Given the description of an element on the screen output the (x, y) to click on. 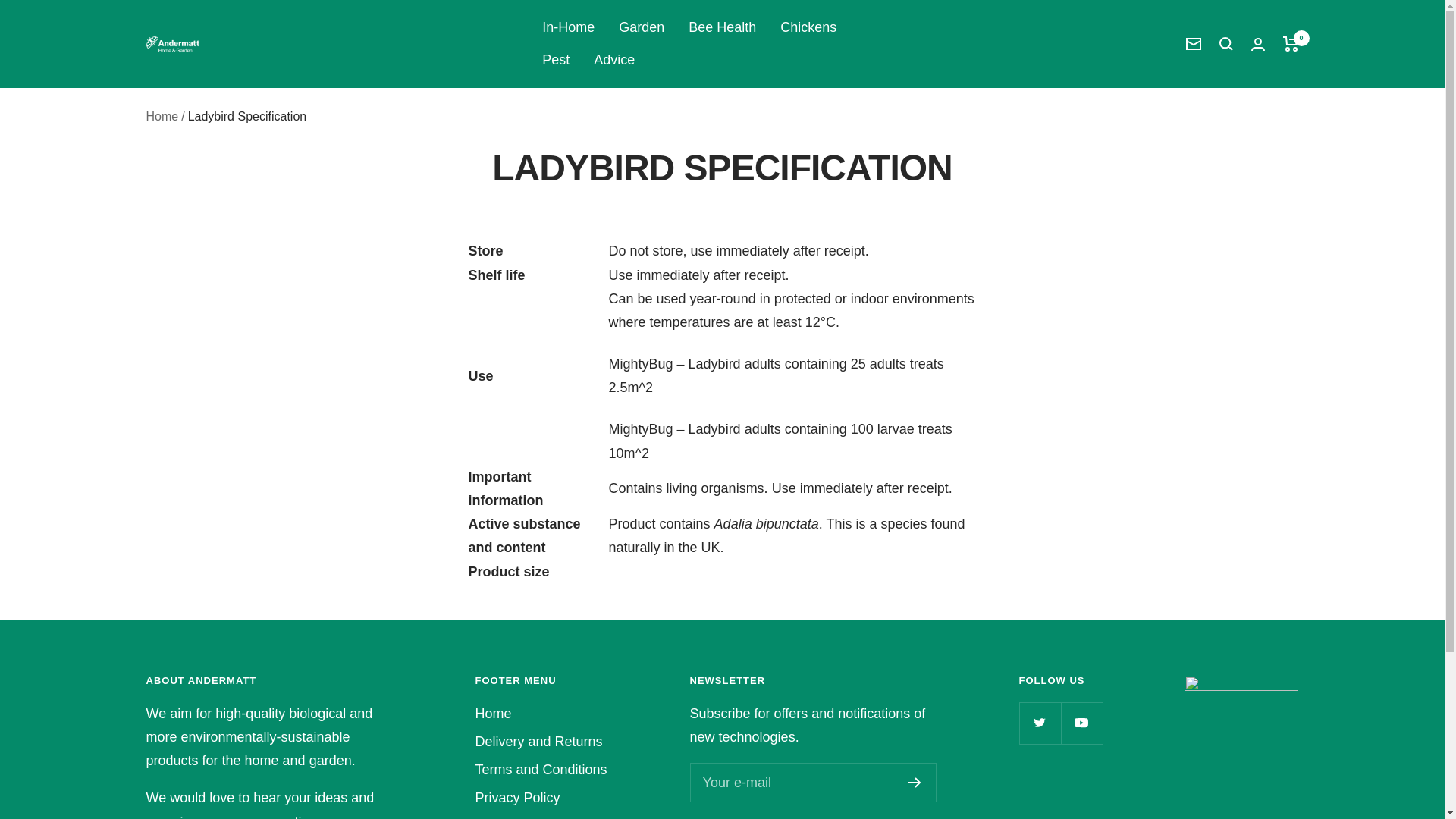
About Us (502, 816)
Advice (614, 60)
Home (161, 115)
Delivery and Returns (538, 741)
Pest (555, 60)
Bee Health (721, 27)
0 (1290, 43)
Register (914, 782)
Privacy Policy (516, 797)
Home (492, 713)
